Given the description of an element on the screen output the (x, y) to click on. 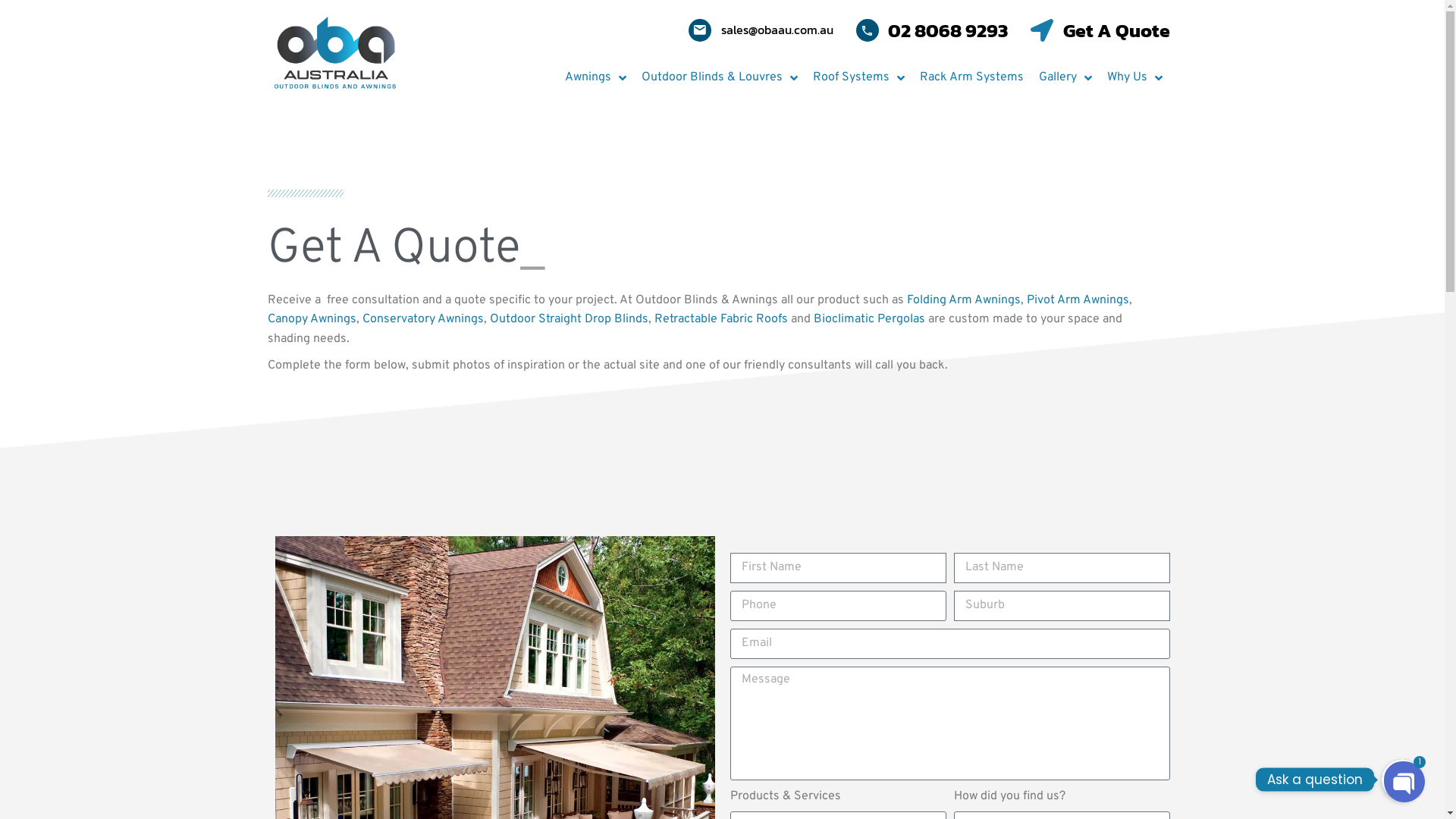
Why Us Element type: text (1134, 77)
Gallery Element type: text (1065, 77)
Outdoor Blinds & Louvres Element type: text (719, 77)
Outdoor Straight Drop Blinds Element type: text (568, 318)
Roof Systems Element type: text (858, 77)
Pivot Arm Awnings Element type: text (1077, 299)
02 8068 9293 Element type: text (931, 30)
Retractable Fabric Roofs Element type: text (720, 318)
Rack Arm Systems Element type: text (970, 77)
Canopy Awnings Element type: text (310, 318)
Conservatory Awnings Element type: text (422, 318)
Folding Arm Awnings Element type: text (963, 299)
Get A Quote Element type: text (1100, 30)
Awnings Element type: text (594, 77)
sales@obaau.com.au Element type: text (760, 29)
Bioclimatic Pergolas Element type: text (868, 318)
